Given the description of an element on the screen output the (x, y) to click on. 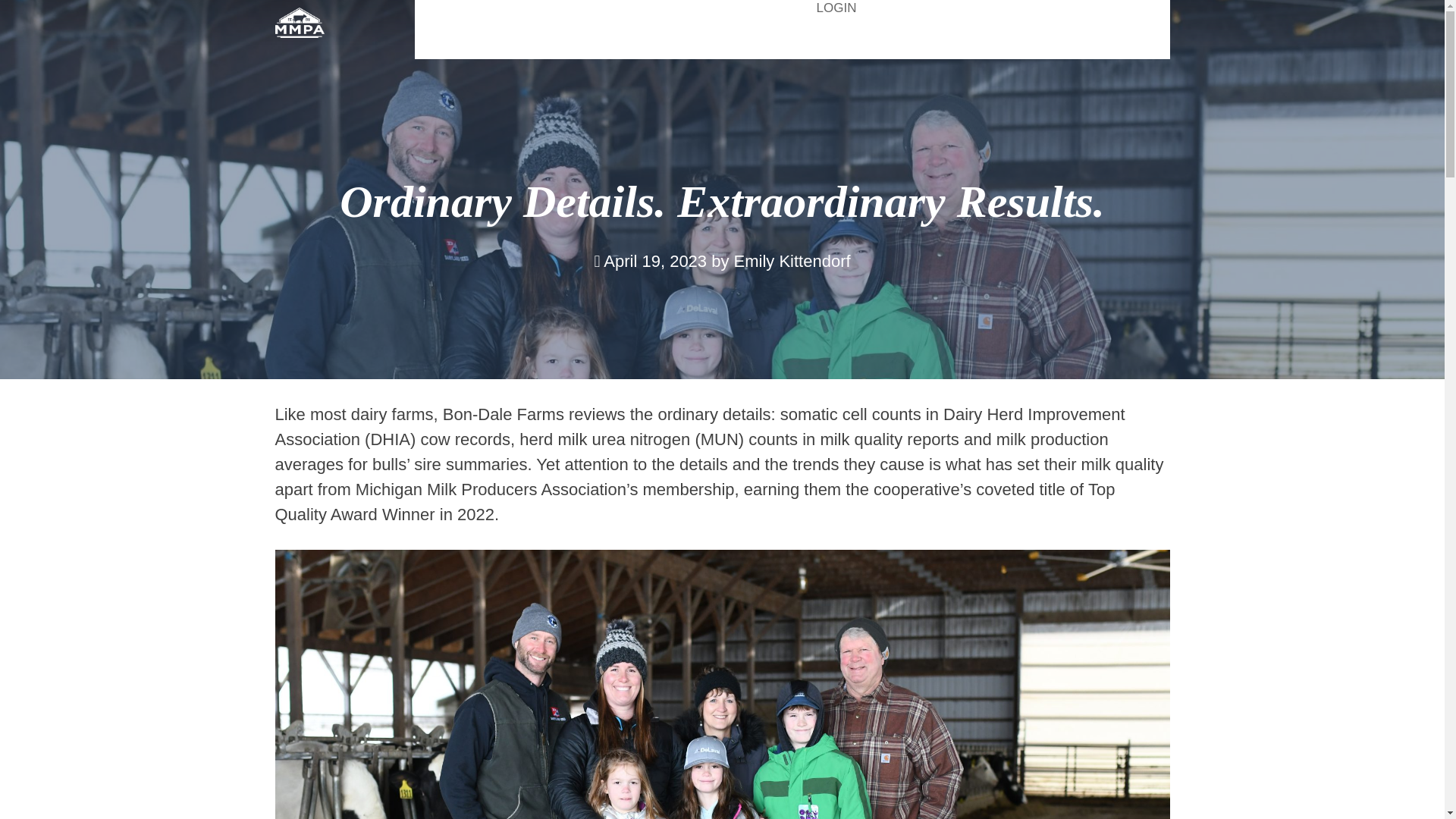
PRODUCTS (721, 40)
FARM SUPPLY STORE (693, 7)
CAREERS (596, 40)
NEWSROOM (1004, 40)
LOGIN (836, 9)
MEMBERSHIP (860, 40)
CONTACT (1132, 40)
ABOUT (486, 40)
